Given the description of an element on the screen output the (x, y) to click on. 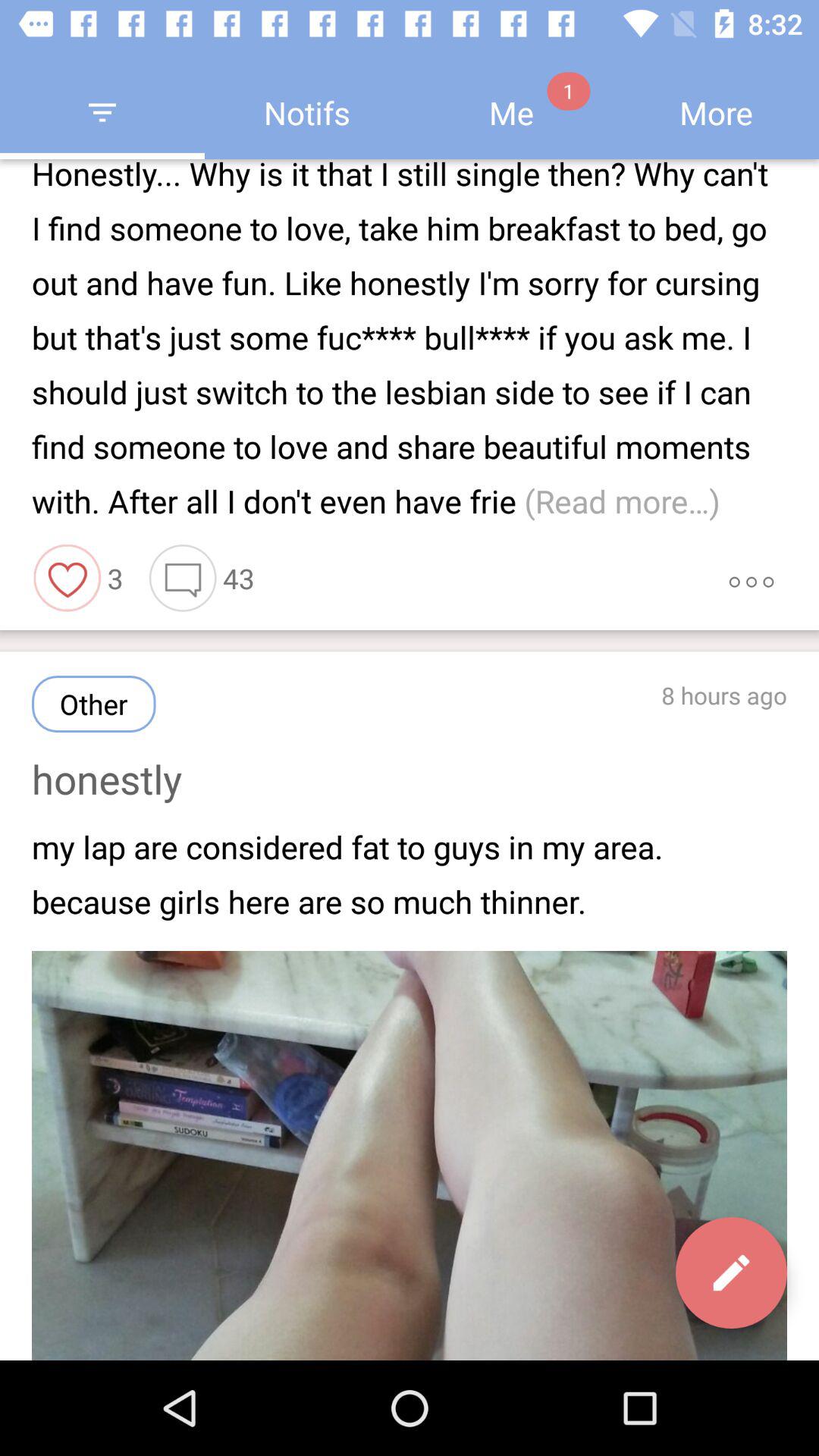
tap icon to the left of the 43 item (182, 578)
